Given the description of an element on the screen output the (x, y) to click on. 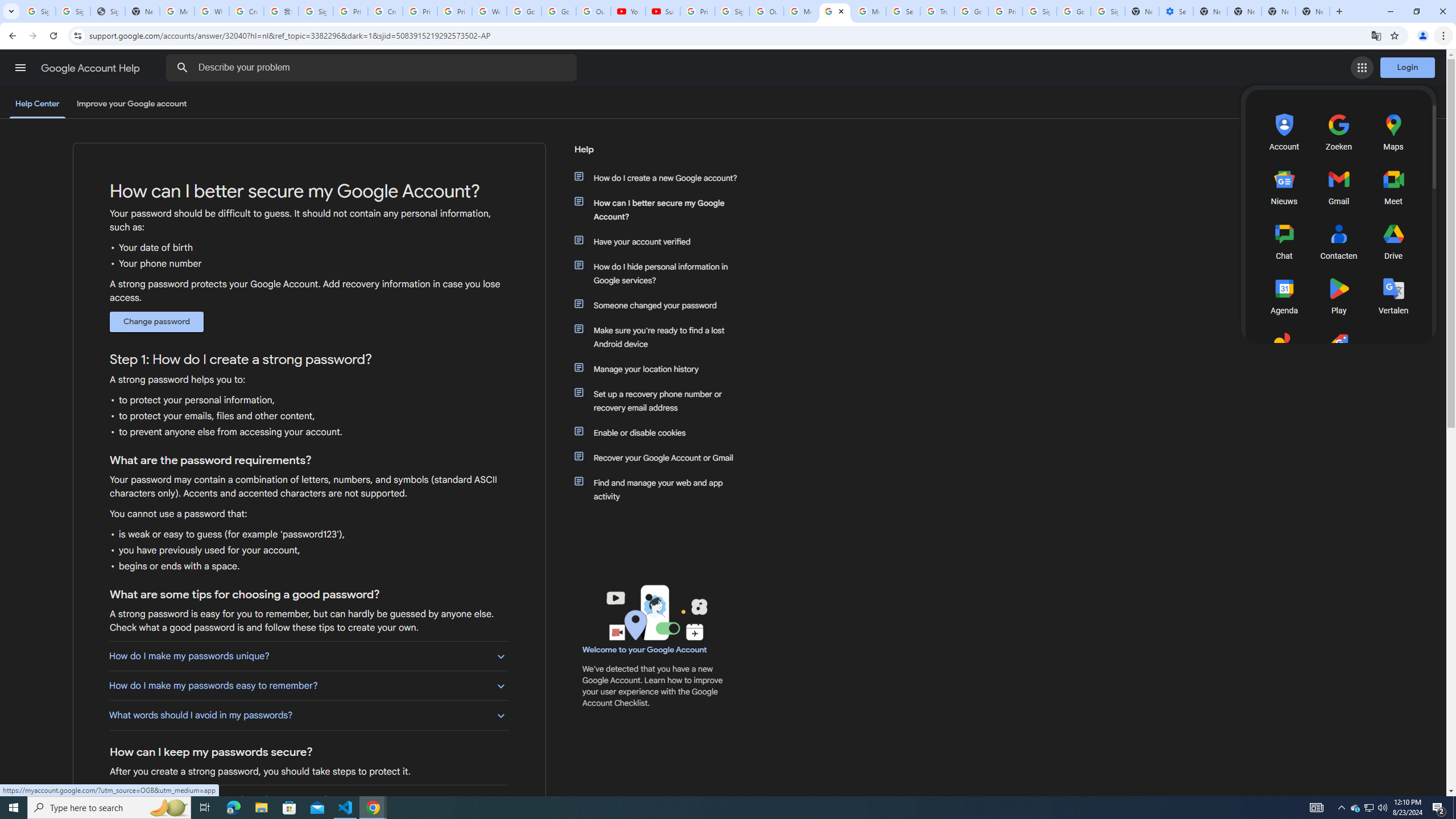
Google Cybersecurity Innovations - Google Safety Center (1073, 11)
Sign in - Google Accounts (732, 11)
